Given the description of an element on the screen output the (x, y) to click on. 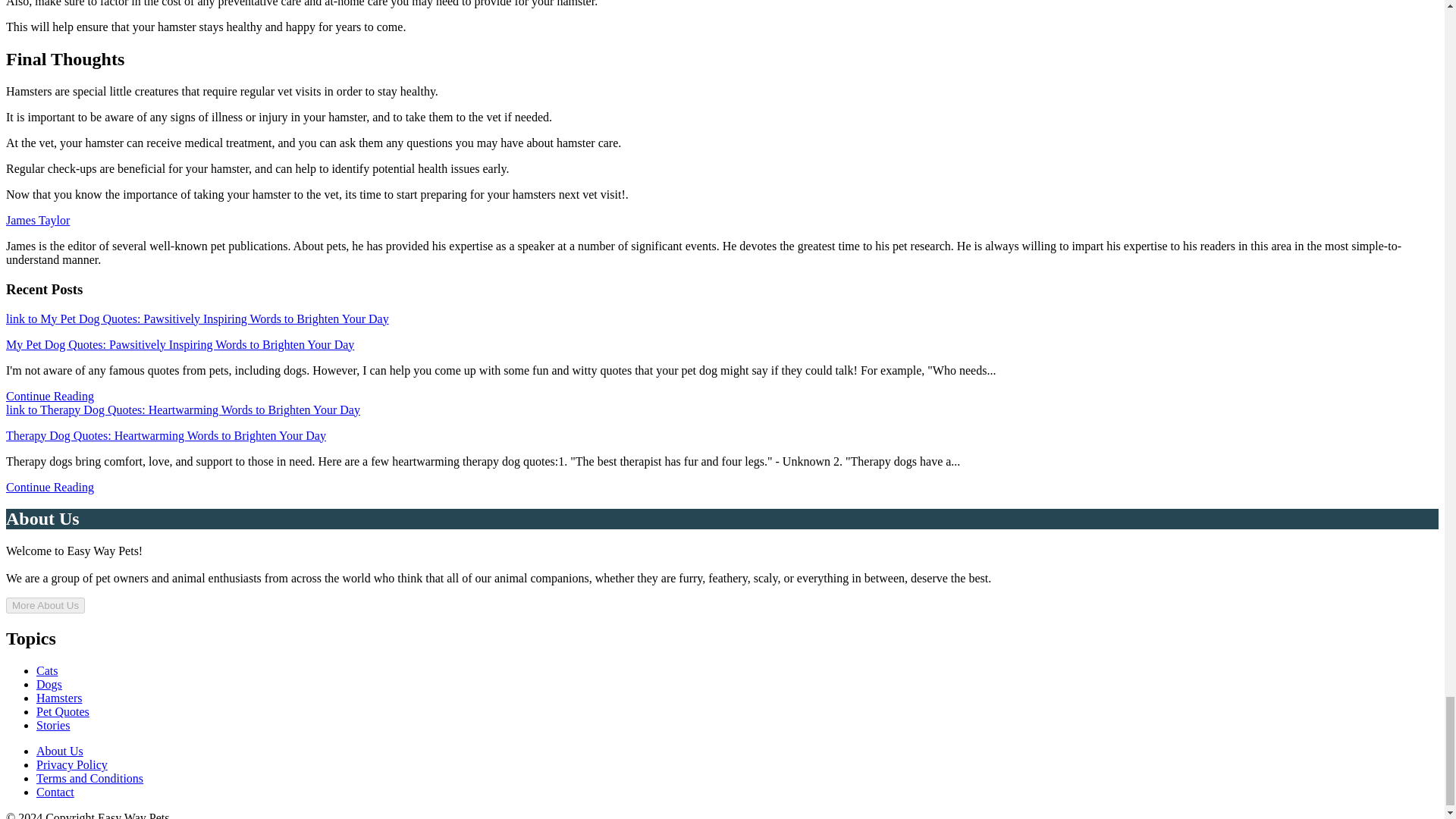
Continue Reading (49, 395)
More About Us (44, 605)
Continue Reading (49, 486)
Cats (47, 670)
Dogs (49, 684)
James Taylor (37, 219)
Therapy Dog Quotes: Heartwarming Words to Brighten Your Day (165, 435)
